Given the description of an element on the screen output the (x, y) to click on. 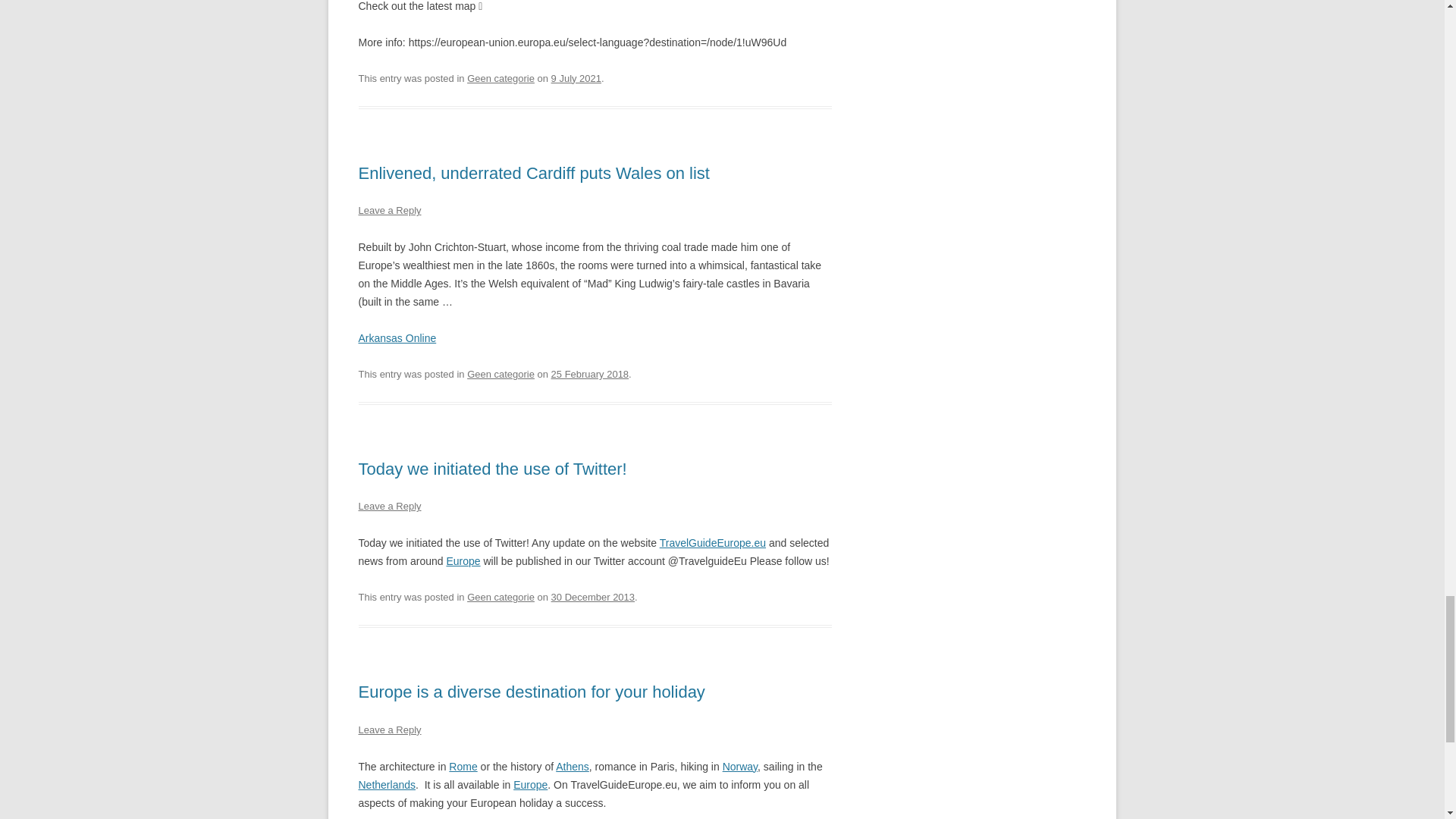
22:09 (592, 596)
21:20 (589, 374)
20:53 (576, 78)
